Given the description of an element on the screen output the (x, y) to click on. 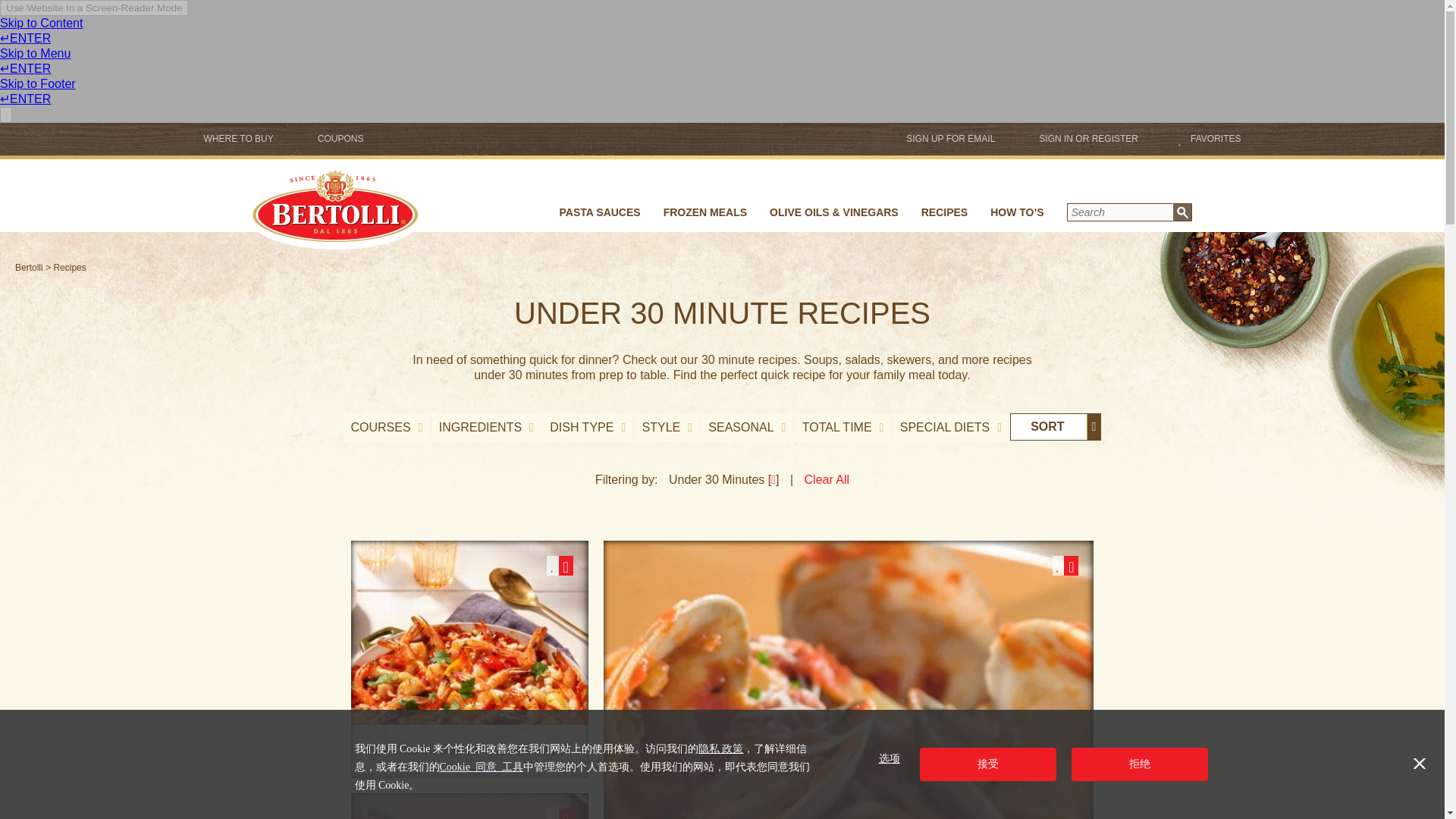
PASTA SAUCES (600, 218)
Search (1120, 212)
Go to Bertolli. (28, 267)
RECIPES (944, 218)
FROZEN MEALS (705, 218)
